Given the description of an element on the screen output the (x, y) to click on. 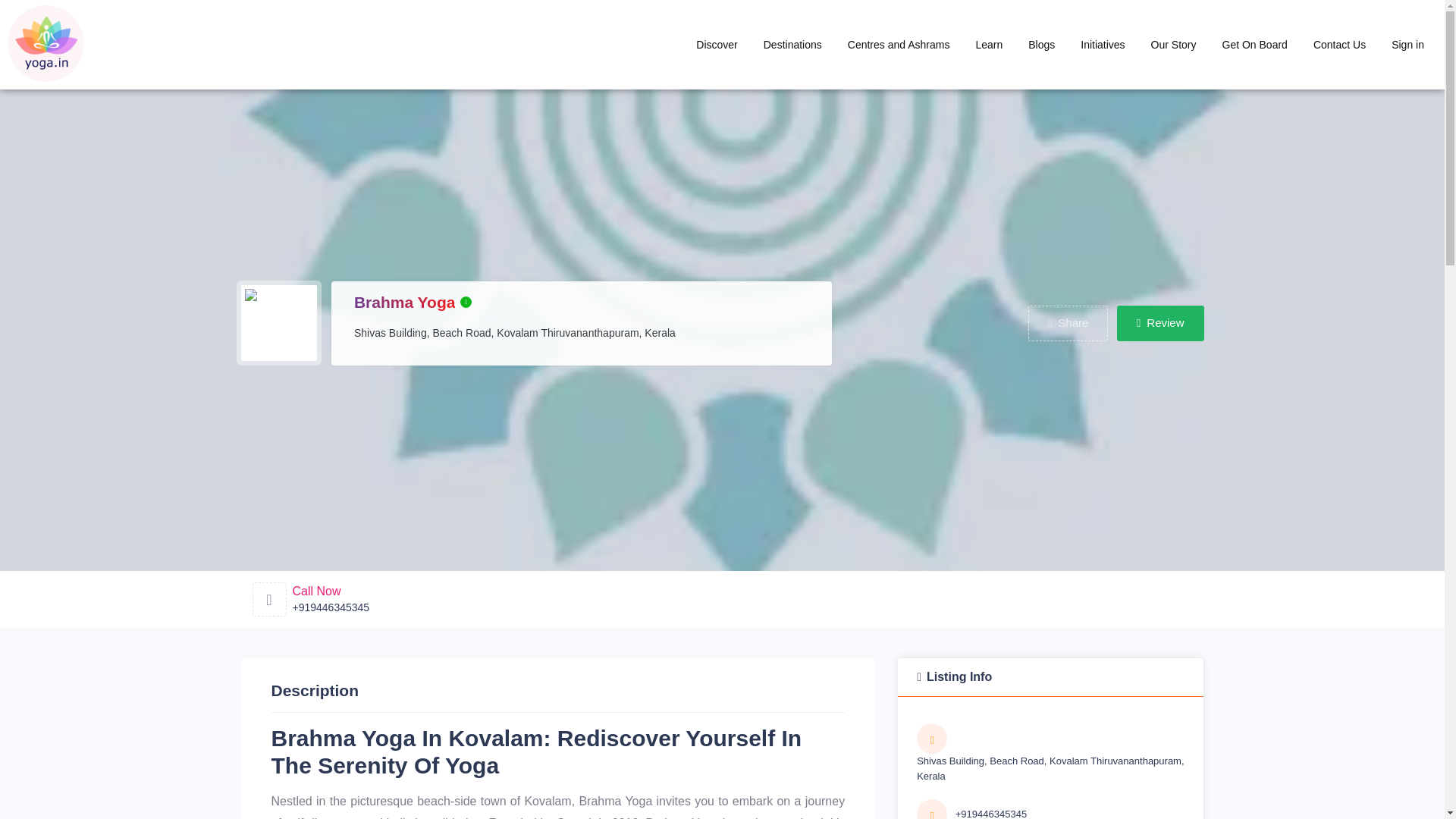
Learn (988, 44)
Destinations (792, 44)
Our Story (1173, 44)
Home (898, 44)
Contact Us (1339, 44)
Blogs (1040, 44)
Review (1160, 323)
Discover (715, 44)
Initiatives (1102, 44)
Share (1067, 323)
Centres and Ashrams (898, 44)
Get On Board (1254, 44)
Destinations (792, 44)
Learn (988, 44)
Get On Board (1254, 44)
